Given the description of an element on the screen output the (x, y) to click on. 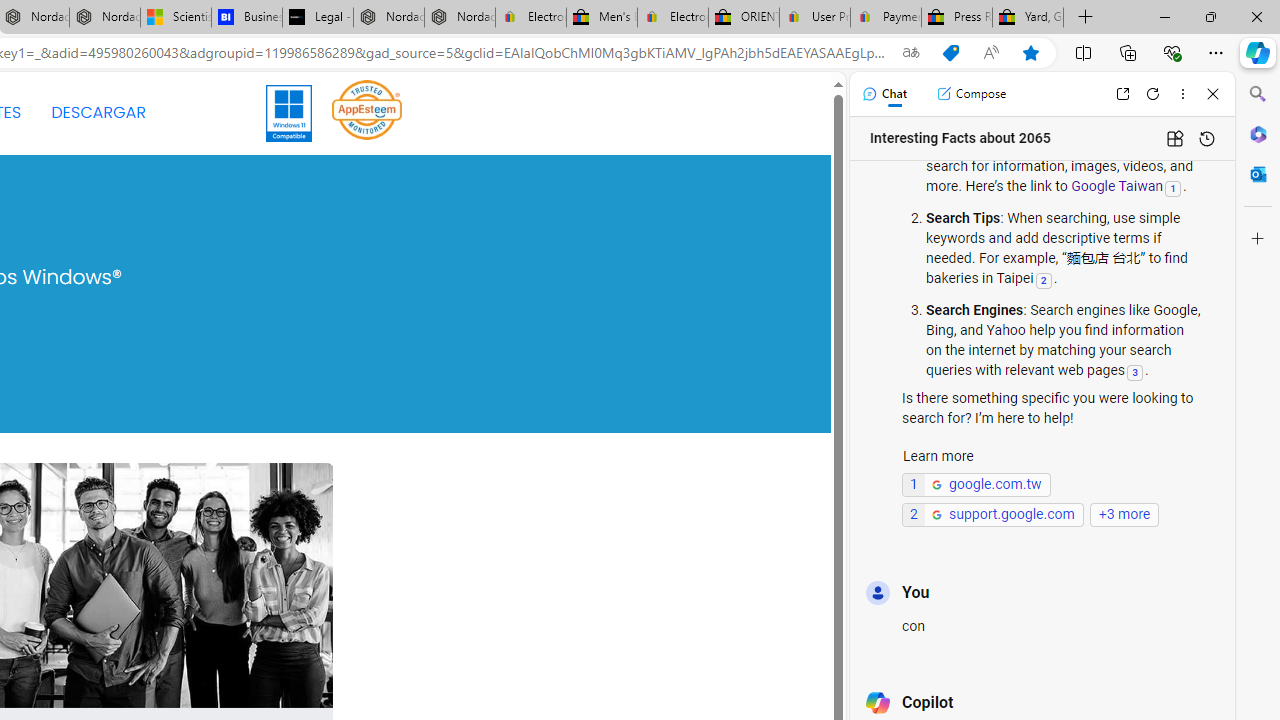
More options (1182, 93)
Open link in new tab (1122, 93)
Electronics, Cars, Fashion, Collectibles & More | eBay (672, 17)
Nordace - Summer Adventures 2024 (388, 17)
Compose (971, 93)
App Esteem (367, 112)
